Given the description of an element on the screen output the (x, y) to click on. 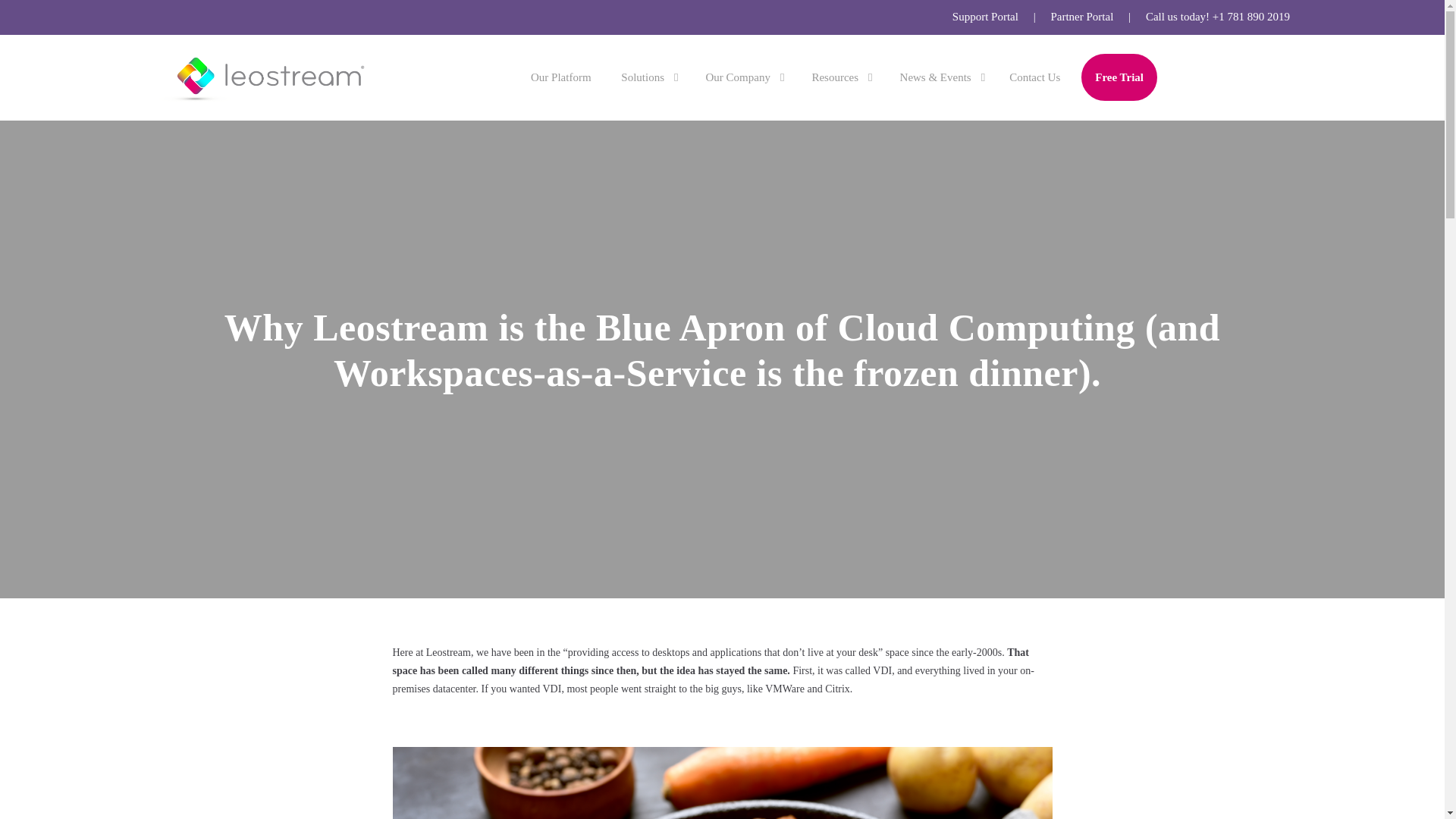
Our Platform  (561, 77)
Partner Portal (1081, 20)
Leostream-logo (264, 77)
Support Portal (984, 20)
Solutions (647, 77)
